Given the description of an element on the screen output the (x, y) to click on. 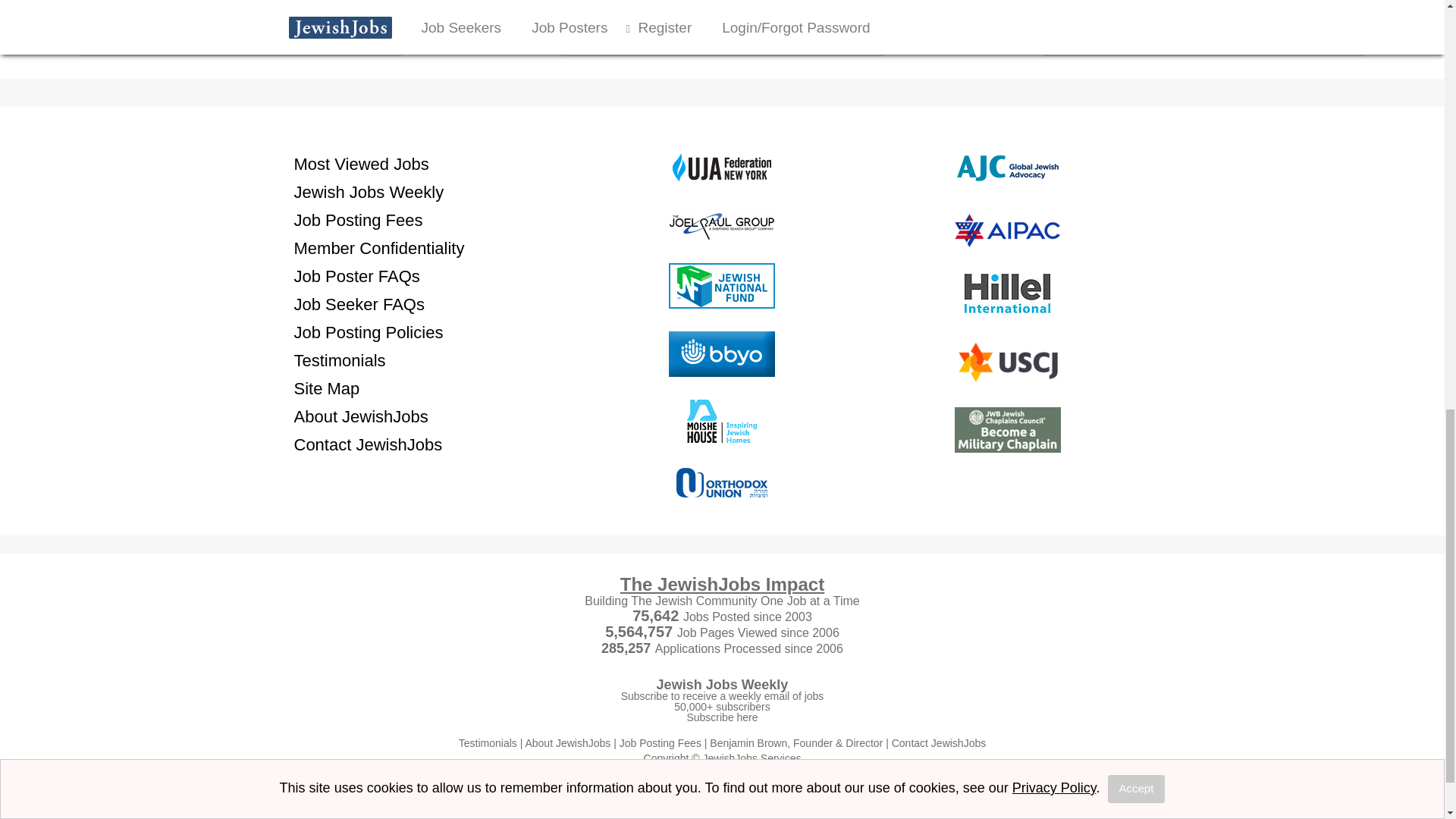
Job Posting Policies (369, 331)
Job Seeker FAQs (359, 303)
Job Posting Fees (358, 219)
Most Viewed Jobs (361, 162)
Job Poster FAQs (357, 275)
About JewishJobs (361, 416)
Contact JewishJobs (368, 443)
Jewish Jobs Weekly (369, 191)
Site Map (326, 387)
Testimonials (339, 360)
Member Confidentiality (379, 248)
